Given the description of an element on the screen output the (x, y) to click on. 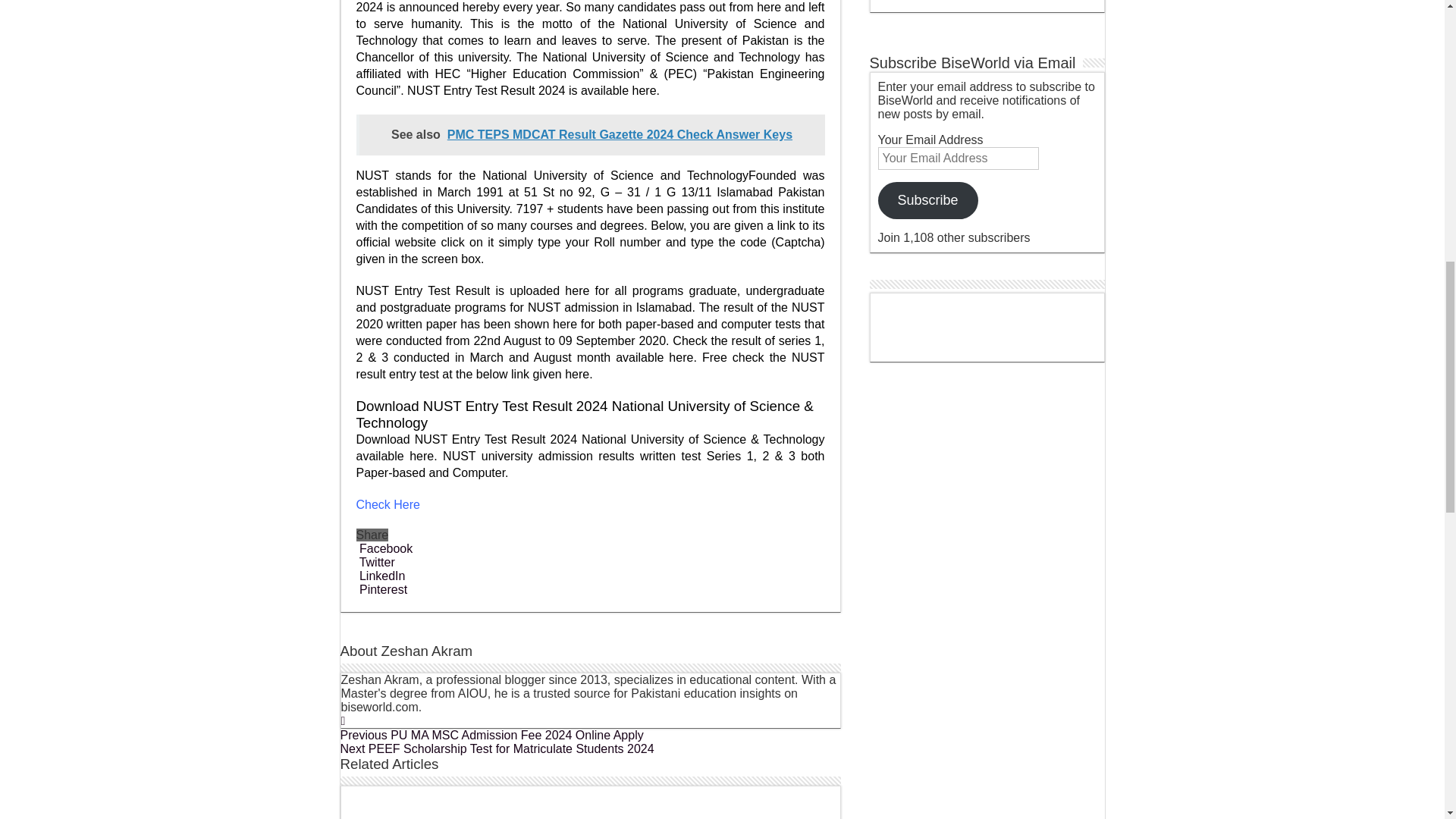
LinkedIn (381, 575)
Twitter (375, 562)
Previous PU MA MSC Admission Fee 2024 Online Apply (491, 735)
Next PEEF Scholarship Test for Matriculate Students 2024 (496, 748)
Pinterest (381, 589)
Facebook (384, 548)
